Given the description of an element on the screen output the (x, y) to click on. 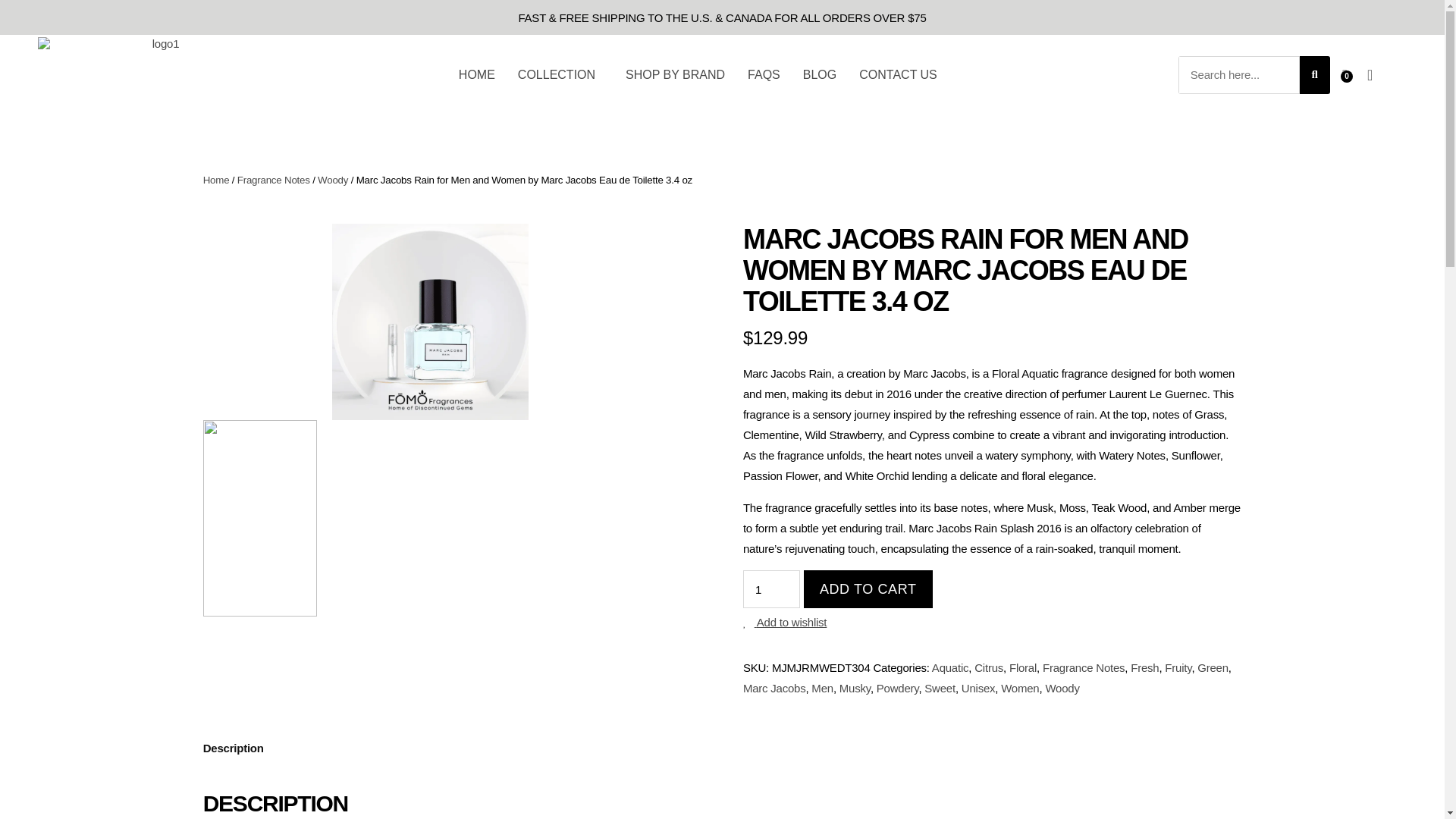
HOME (476, 73)
BLOG (819, 73)
Fragrance Notes (273, 179)
Aquatic (949, 667)
FAQS (763, 73)
Home (216, 179)
Search (1238, 75)
Woody (332, 179)
COLLECTION (560, 73)
ADD TO CART (868, 589)
Add to wishlist (784, 621)
SHOP BY BRAND (674, 73)
CONTACT US (897, 73)
1 (770, 589)
